Given the description of an element on the screen output the (x, y) to click on. 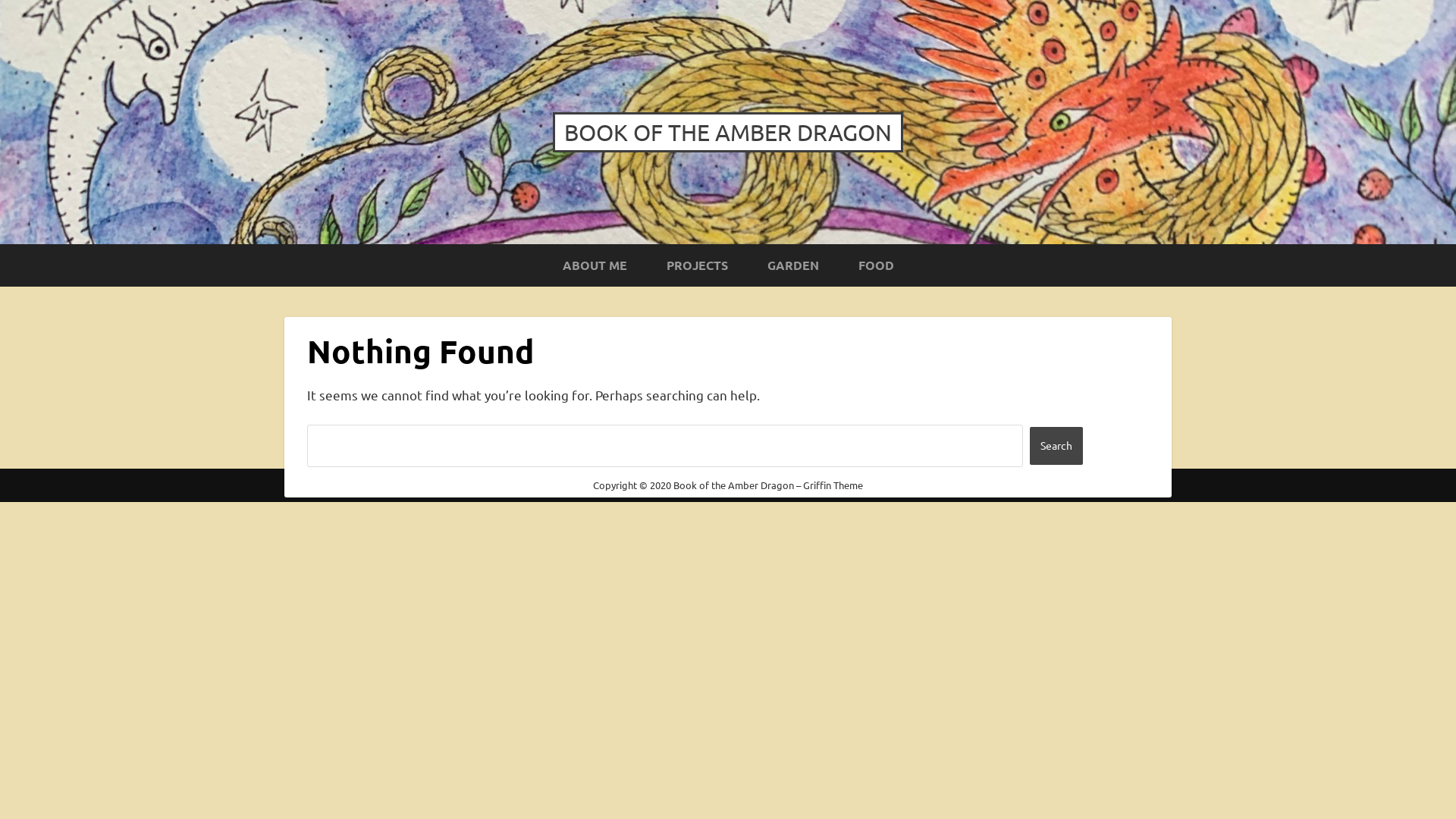
Griffin Theme Element type: text (832, 484)
BOOK OF THE AMBER DRAGON Element type: text (727, 132)
FOOD Element type: text (876, 265)
PROJECTS Element type: text (696, 265)
ABOUT ME Element type: text (594, 265)
GARDEN Element type: text (793, 265)
Book of the Amber Dragon Element type: text (733, 484)
Search Element type: text (1055, 445)
